Given the description of an element on the screen output the (x, y) to click on. 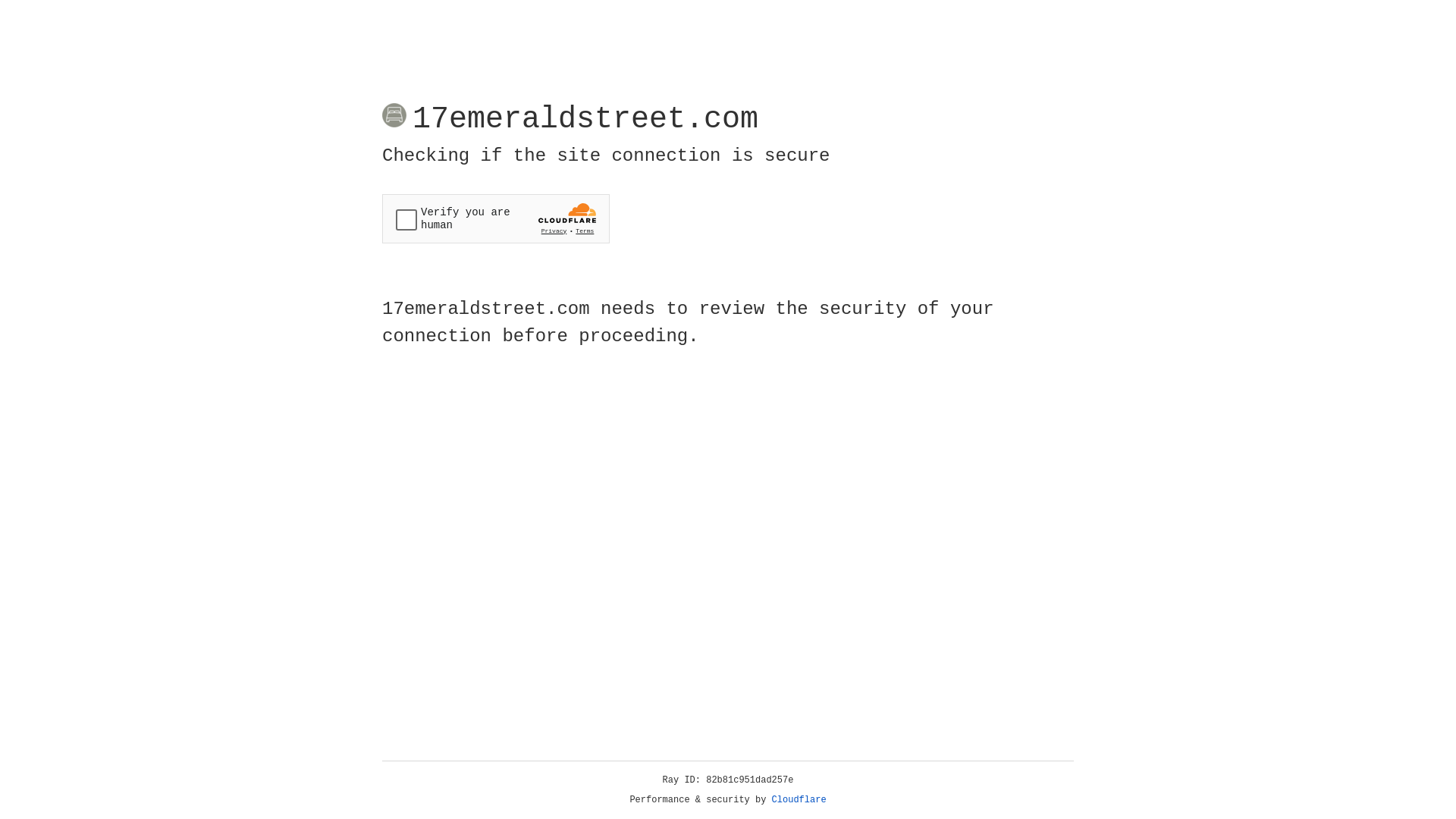
Widget containing a Cloudflare security challenge Element type: hover (495, 218)
Cloudflare Element type: text (798, 799)
